Given the description of an element on the screen output the (x, y) to click on. 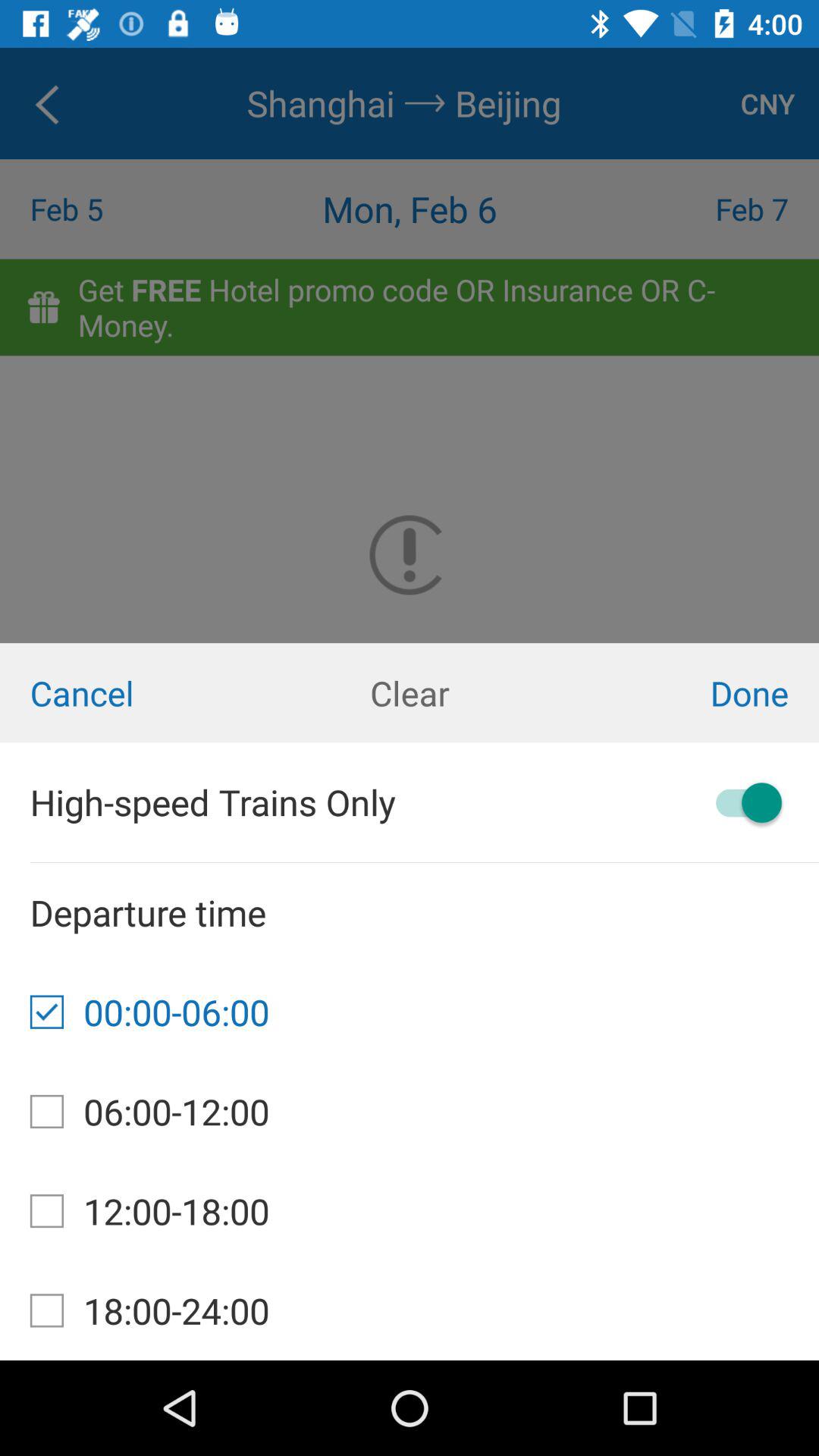
launch done (682, 692)
